Given the description of an element on the screen output the (x, y) to click on. 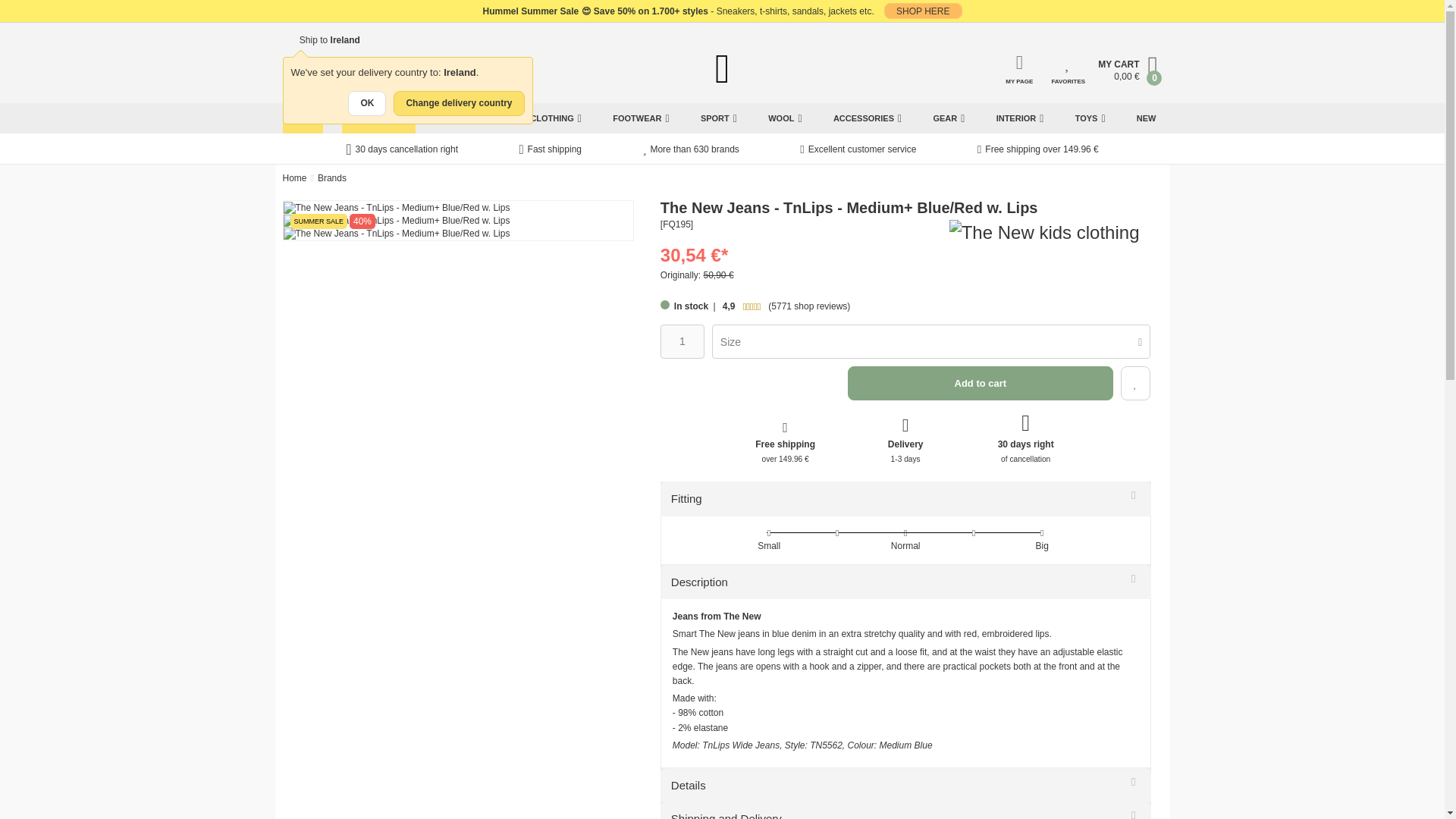
SHOP HERE (921, 10)
Change delivery country (458, 103)
WOOL (784, 118)
NEW (1146, 118)
4,9 (751, 307)
SPORT (718, 118)
DEALS (301, 118)
SUMMER SALE (378, 118)
Ship to Ireland (320, 40)
Home (293, 177)
Excellent customer service (857, 149)
More than 630 brands (690, 149)
GEAR (948, 118)
BRANDS (459, 118)
ACCESSORIES (867, 118)
